Given the description of an element on the screen output the (x, y) to click on. 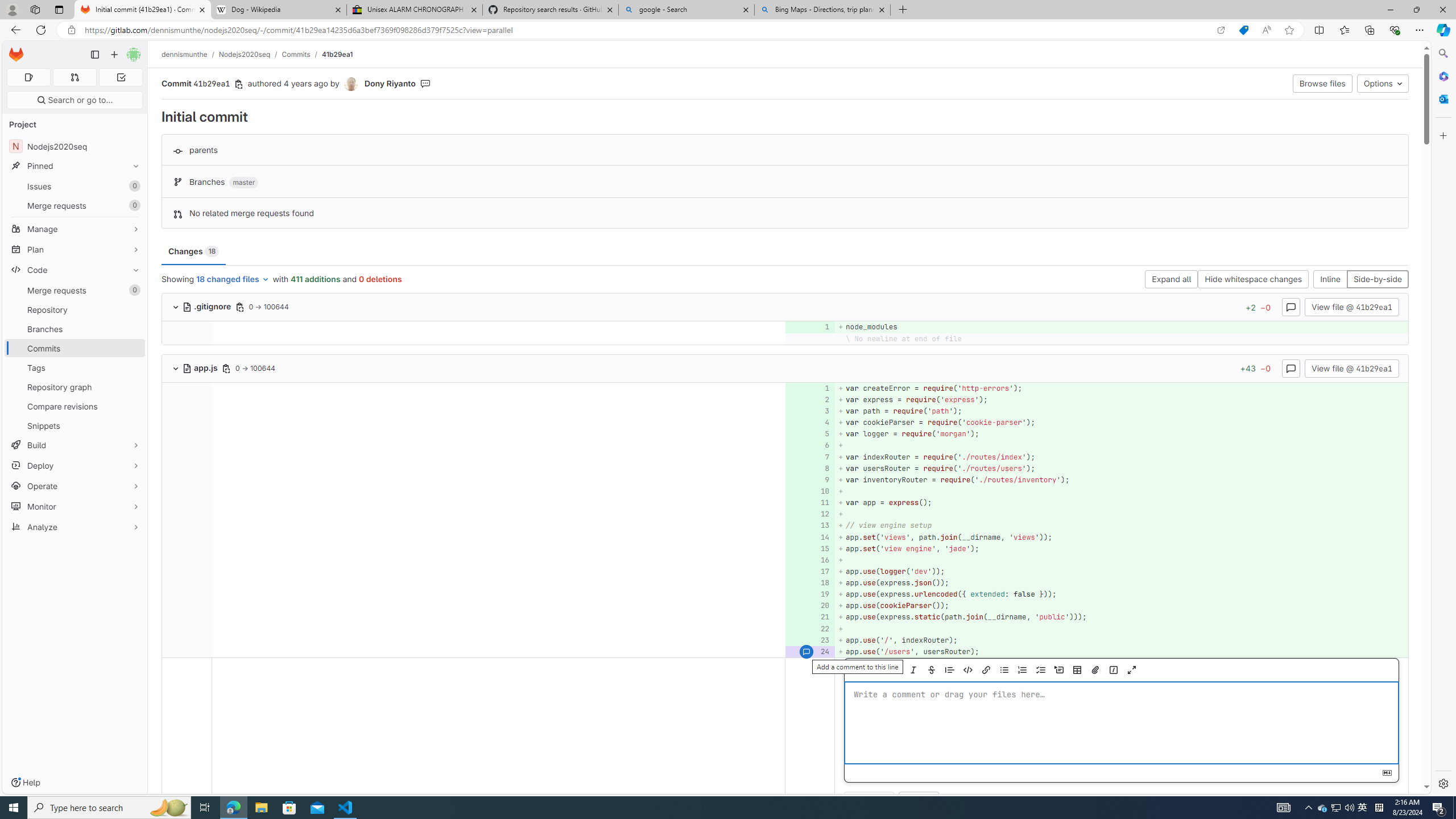
Repository (74, 309)
Side-by-side (1377, 279)
Dog - Wikipedia (277, 9)
Add a comment to this line 16 (809, 559)
Add a numbered list (1021, 670)
Merge requests0 (74, 289)
Add a comment to this line 9 (809, 479)
2 (808, 399)
Class: s12 (806, 651)
23 (808, 639)
12 (808, 514)
Add a quick action (1113, 670)
6 (808, 445)
